Given the description of an element on the screen output the (x, y) to click on. 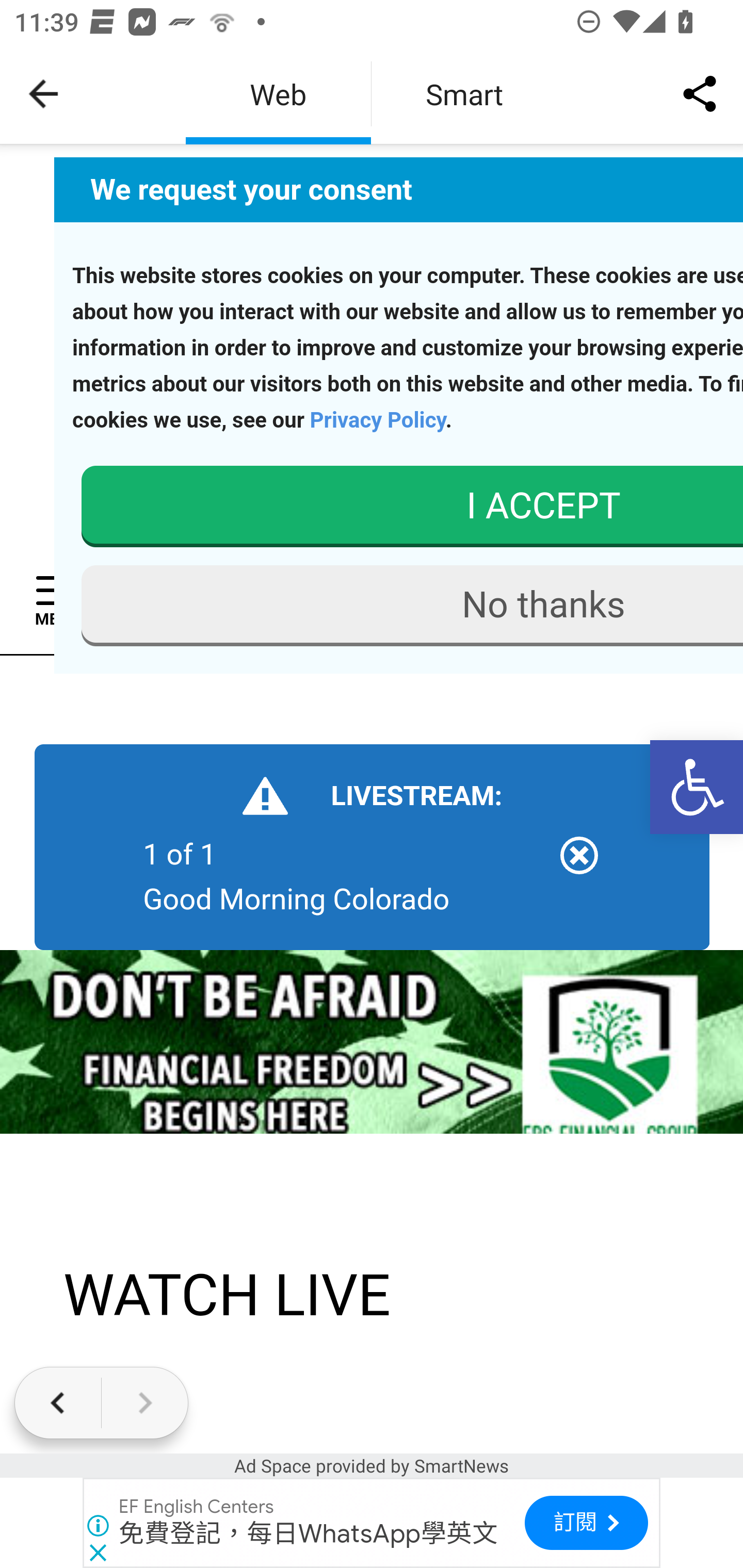
Web (277, 93)
Smart (464, 93)
Privacy Policy (376, 419)
I ACCEPT (411, 506)
No thanks (411, 604)
image_mobile_takeover (371, 1040)
EF English Centers (196, 1507)
訂閱 (586, 1522)
免費登記，每日WhatsApp學英文 (308, 1533)
